Given the description of an element on the screen output the (x, y) to click on. 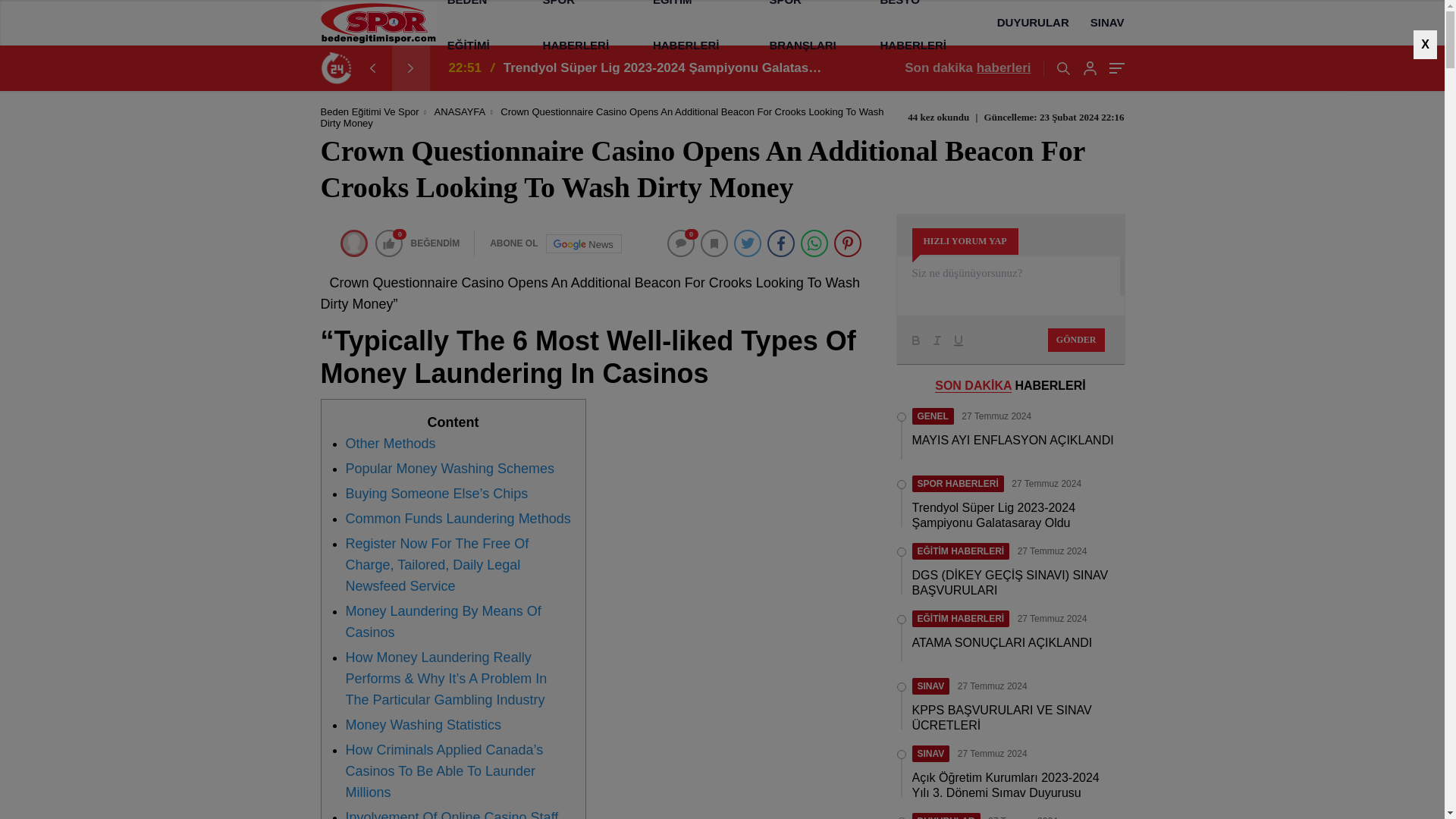
SINAV (1102, 22)
DUYURULAR (1033, 22)
